Given the description of an element on the screen output the (x, y) to click on. 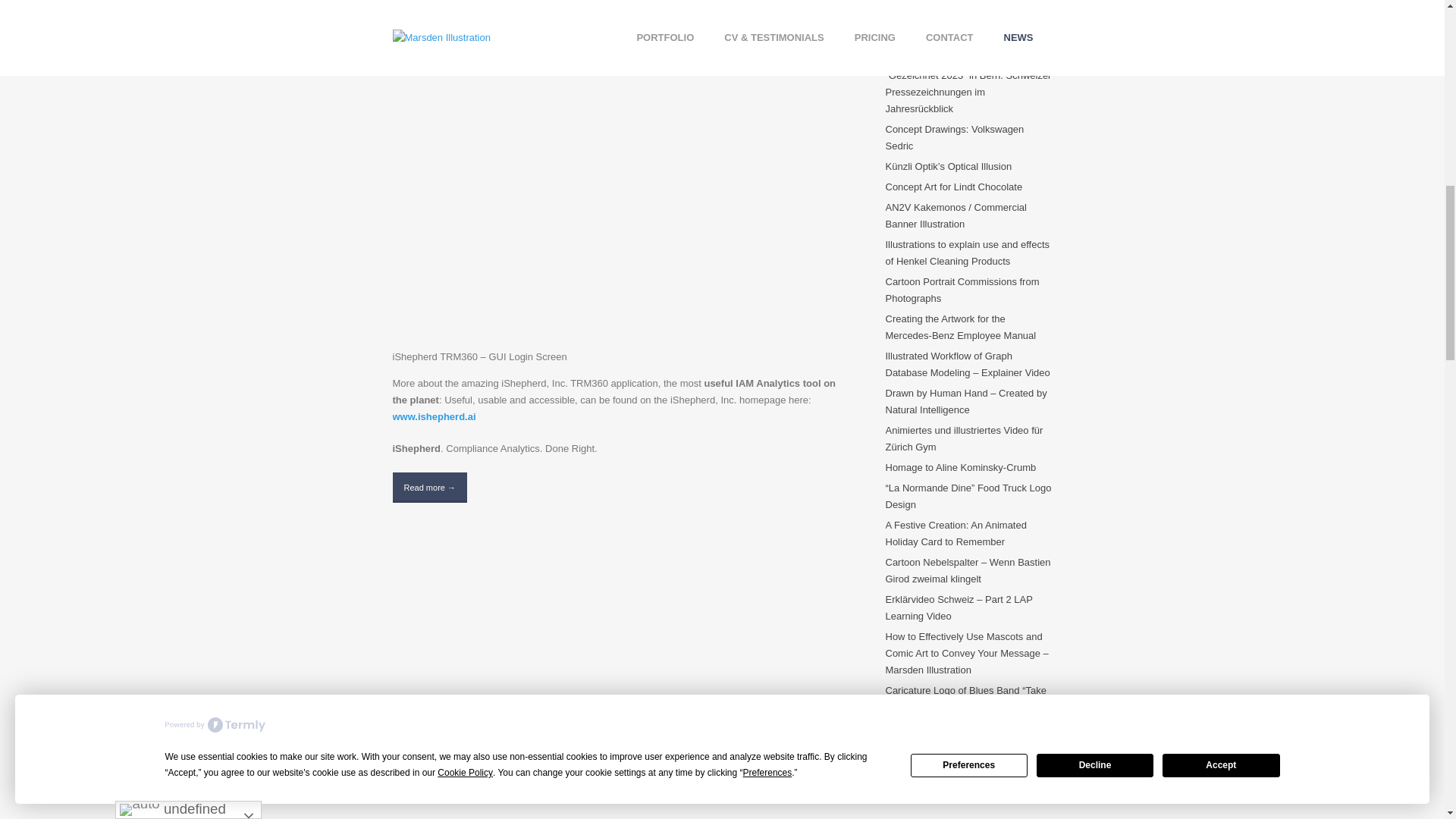
Read more (430, 486)
